Given the description of an element on the screen output the (x, y) to click on. 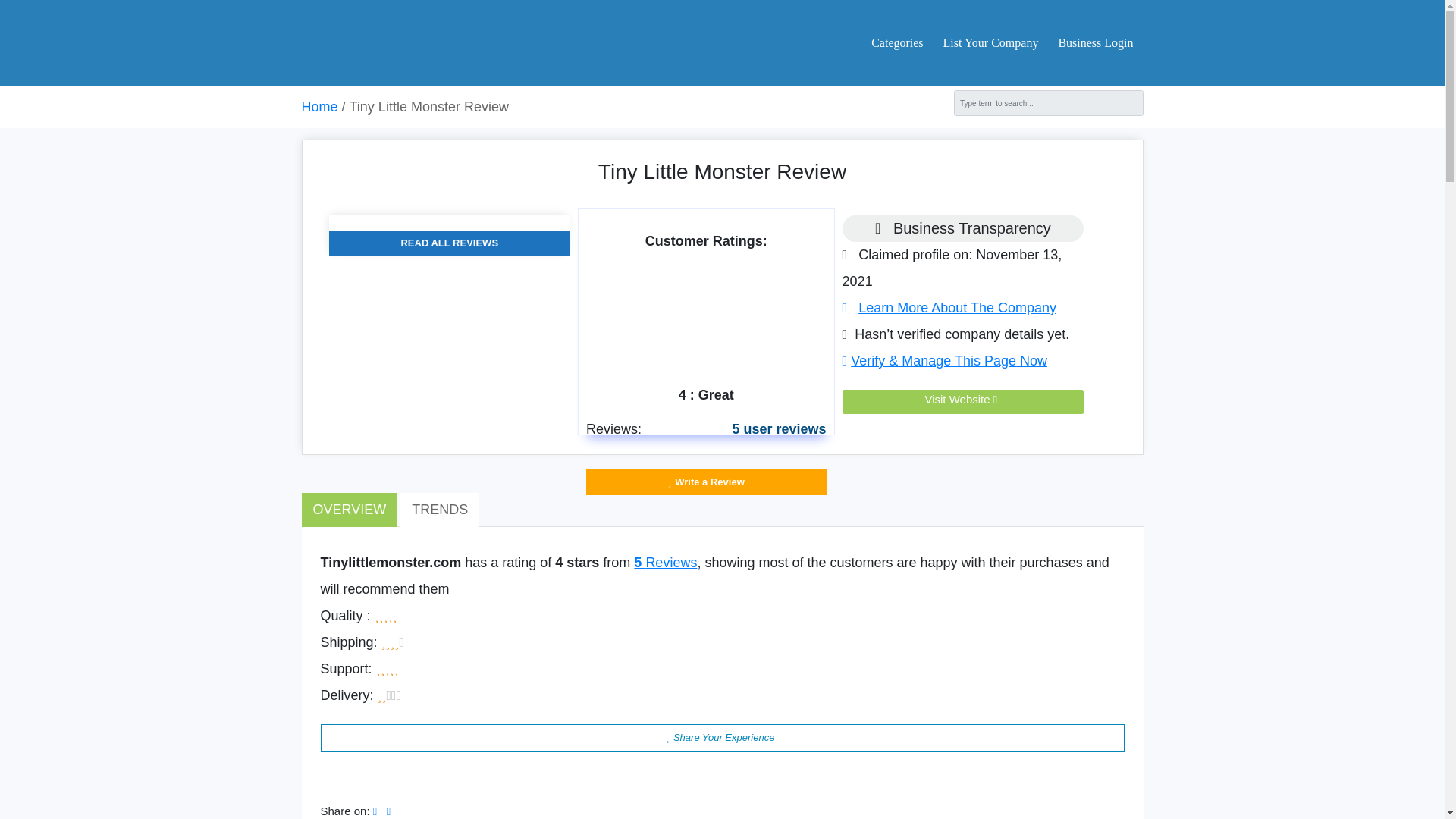
Share Your Experience (722, 737)
  Learn More About The Company (950, 307)
Home (319, 106)
List Your Company (991, 42)
TRENDS (439, 510)
List Your Company (991, 42)
Categories (896, 42)
Write a Review (706, 482)
READ ALL REVIEWS (449, 243)
Categories (896, 42)
